Given the description of an element on the screen output the (x, y) to click on. 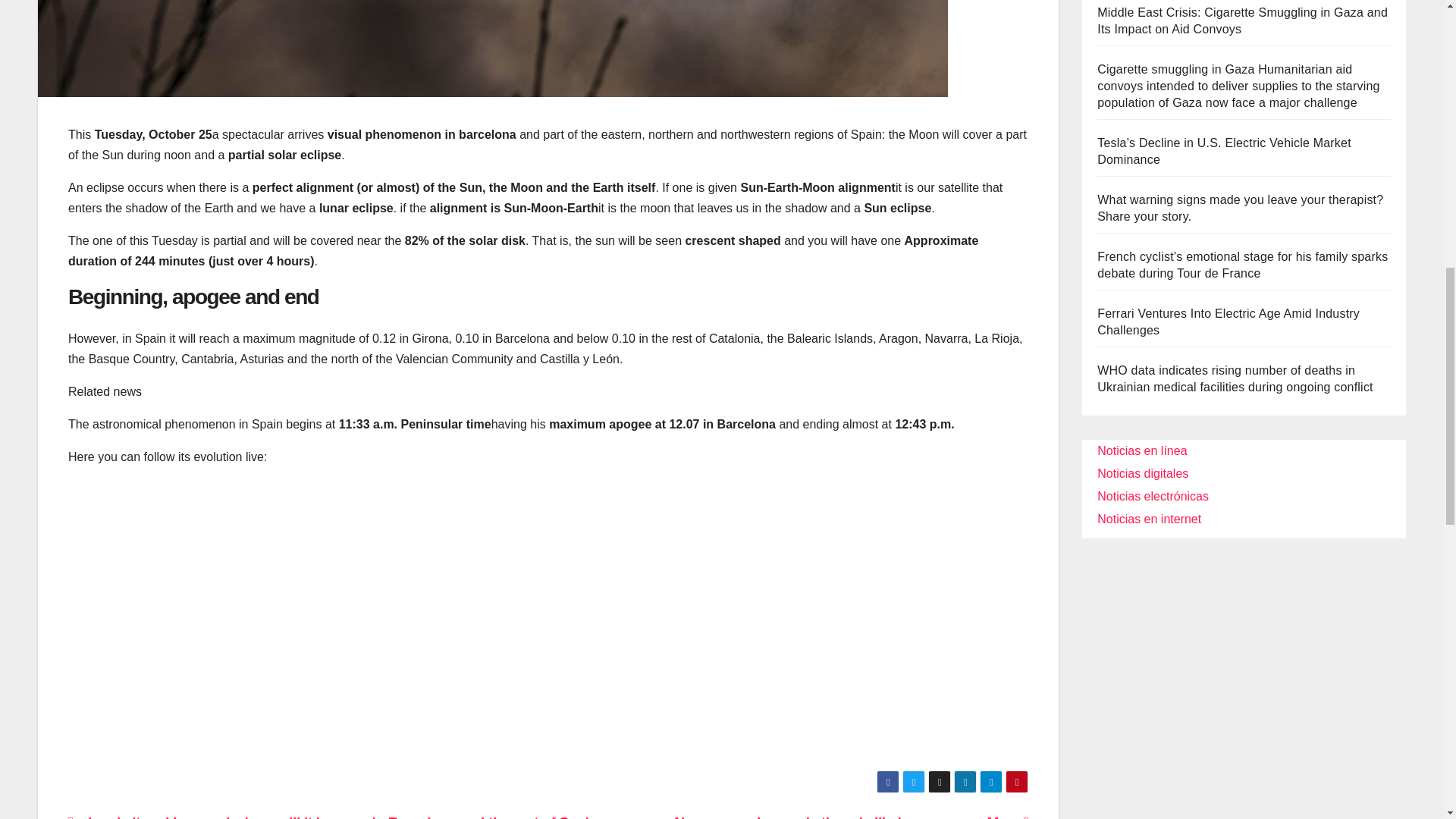
Follow streaming the partial solar eclipse October 2022 (492, 48)
LIVE: Partial Solar Eclipse - October 25, 2022 (310, 615)
New research reveals there is likely magma on Mars (850, 816)
